Given the description of an element on the screen output the (x, y) to click on. 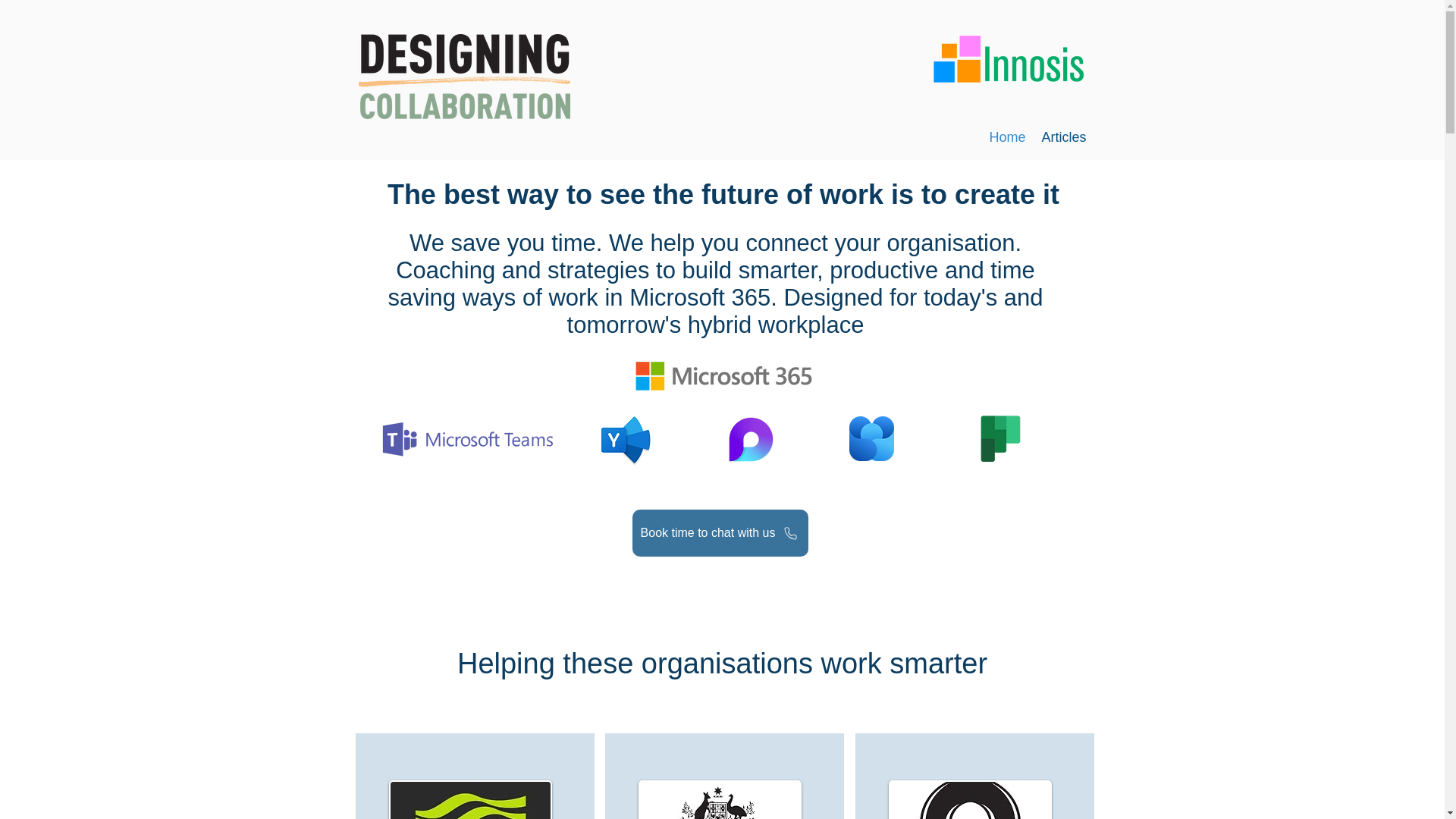
Book time to chat with us (719, 532)
Teams 2 logo.png (466, 438)
Articles (1063, 137)
Office logo.png (723, 375)
Home (1007, 137)
